Given the description of an element on the screen output the (x, y) to click on. 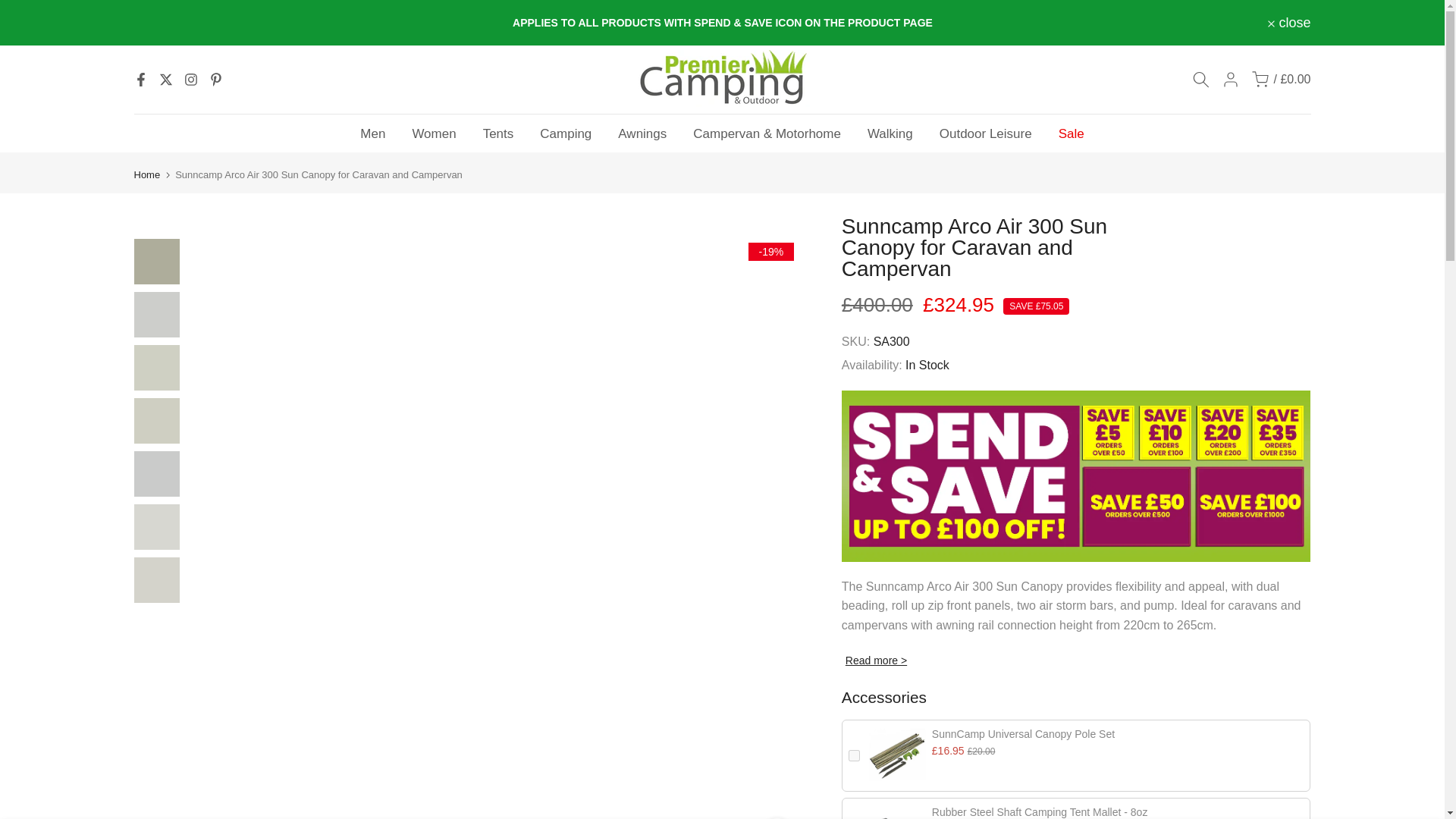
close (1289, 22)
Men (372, 132)
Skip to content (10, 7)
on (854, 754)
